Given the description of an element on the screen output the (x, y) to click on. 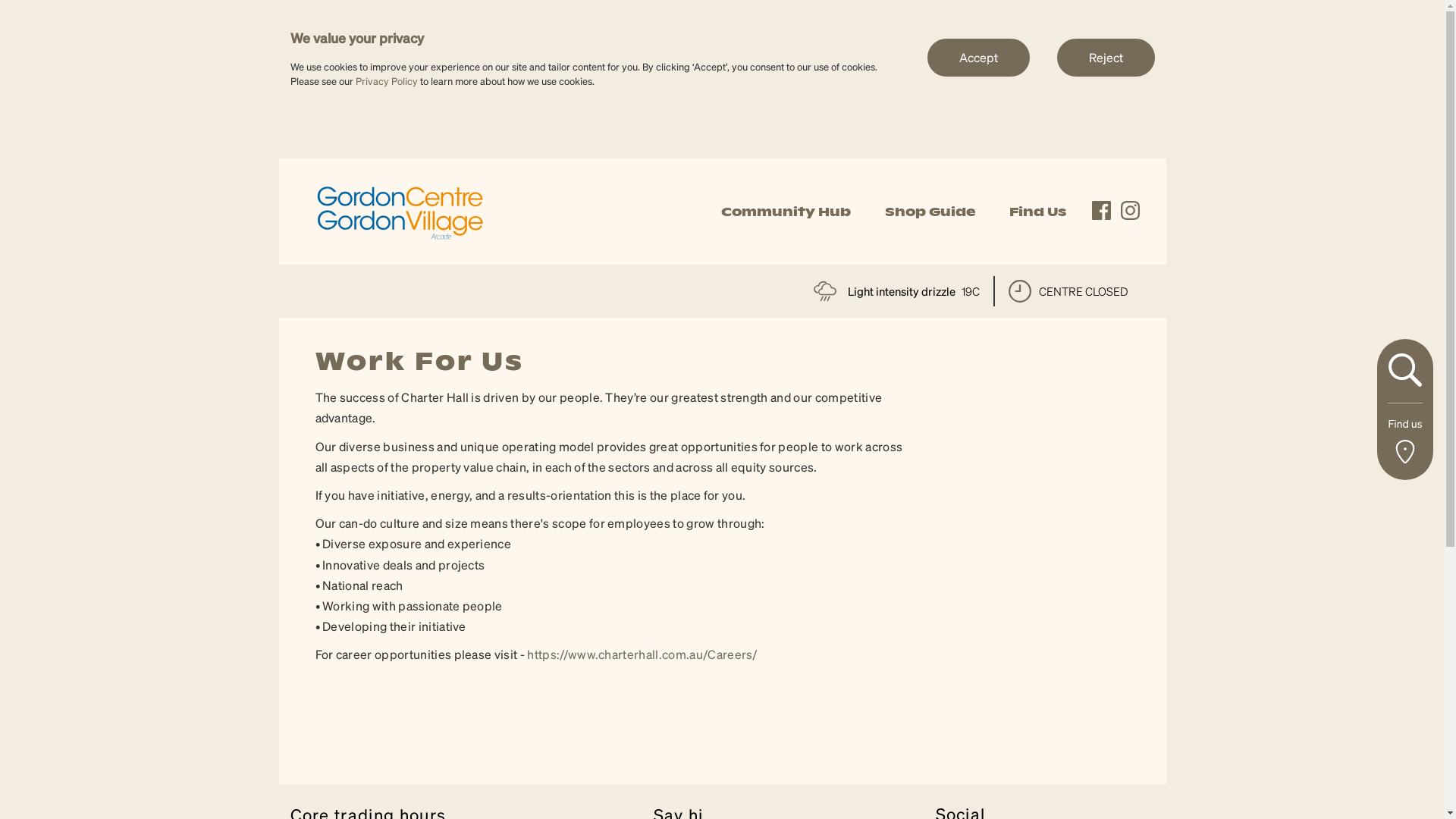
https://www.charterhall.com.au/Careers/ Element type: text (641, 654)
instagram Element type: hover (1129, 209)
Privacy Policy Element type: text (385, 80)
facebook Element type: hover (1101, 209)
time Element type: hover (1019, 290)
Community Hub Element type: text (785, 211)
Accept Element type: text (977, 56)
CENTRE CLOSED Element type: text (1068, 290)
Find Us Element type: text (1036, 211)
Shop Guide Element type: text (929, 211)
Reject Element type: text (1105, 56)
